Given the description of an element on the screen output the (x, y) to click on. 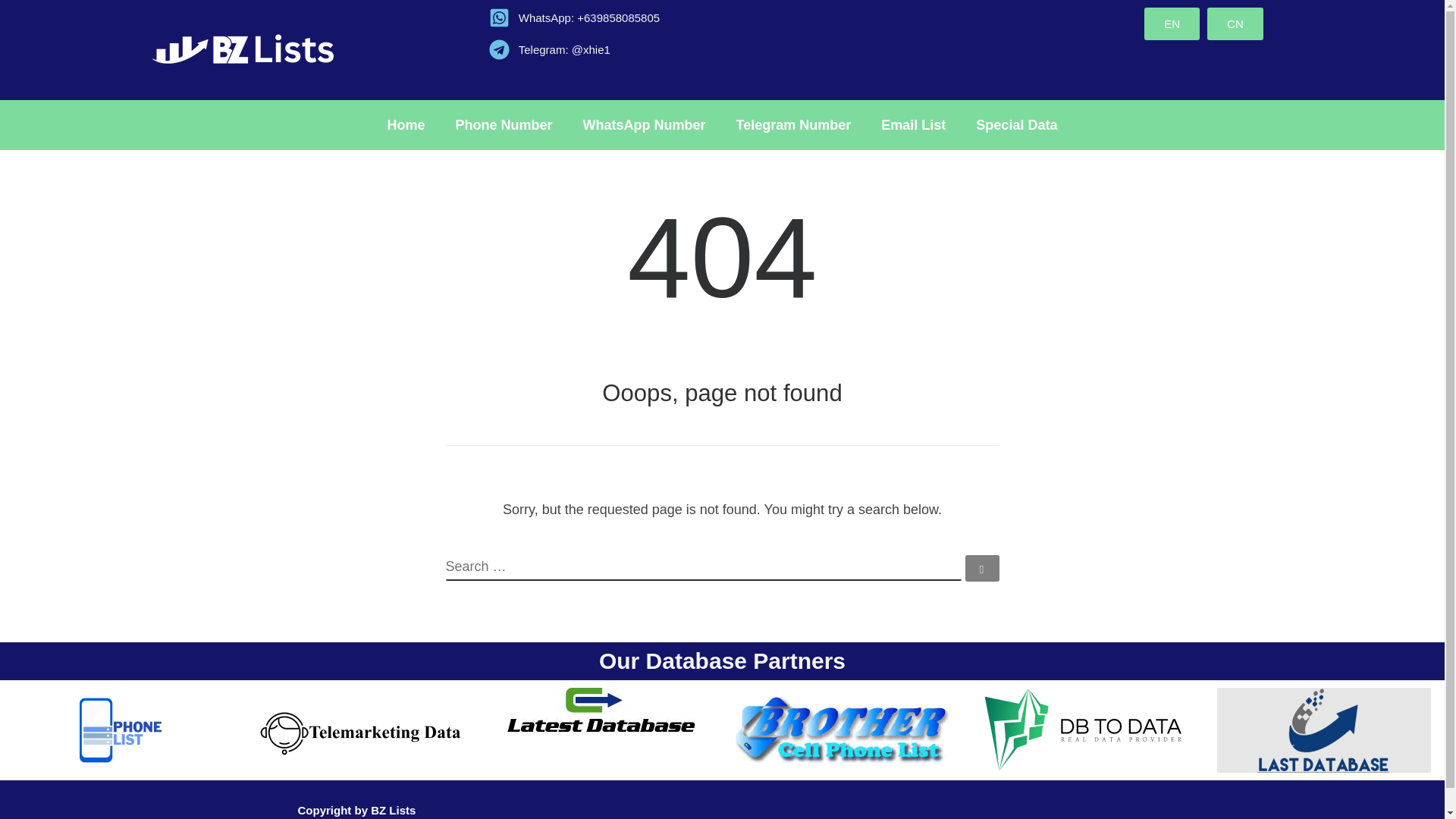
Home (406, 124)
Telegram Number (793, 124)
Phone Number (504, 124)
Email List (913, 124)
CN (1235, 23)
BZ Lists (392, 809)
EN (1171, 23)
Special Data (1015, 124)
WhatsApp Number (643, 124)
